Given the description of an element on the screen output the (x, y) to click on. 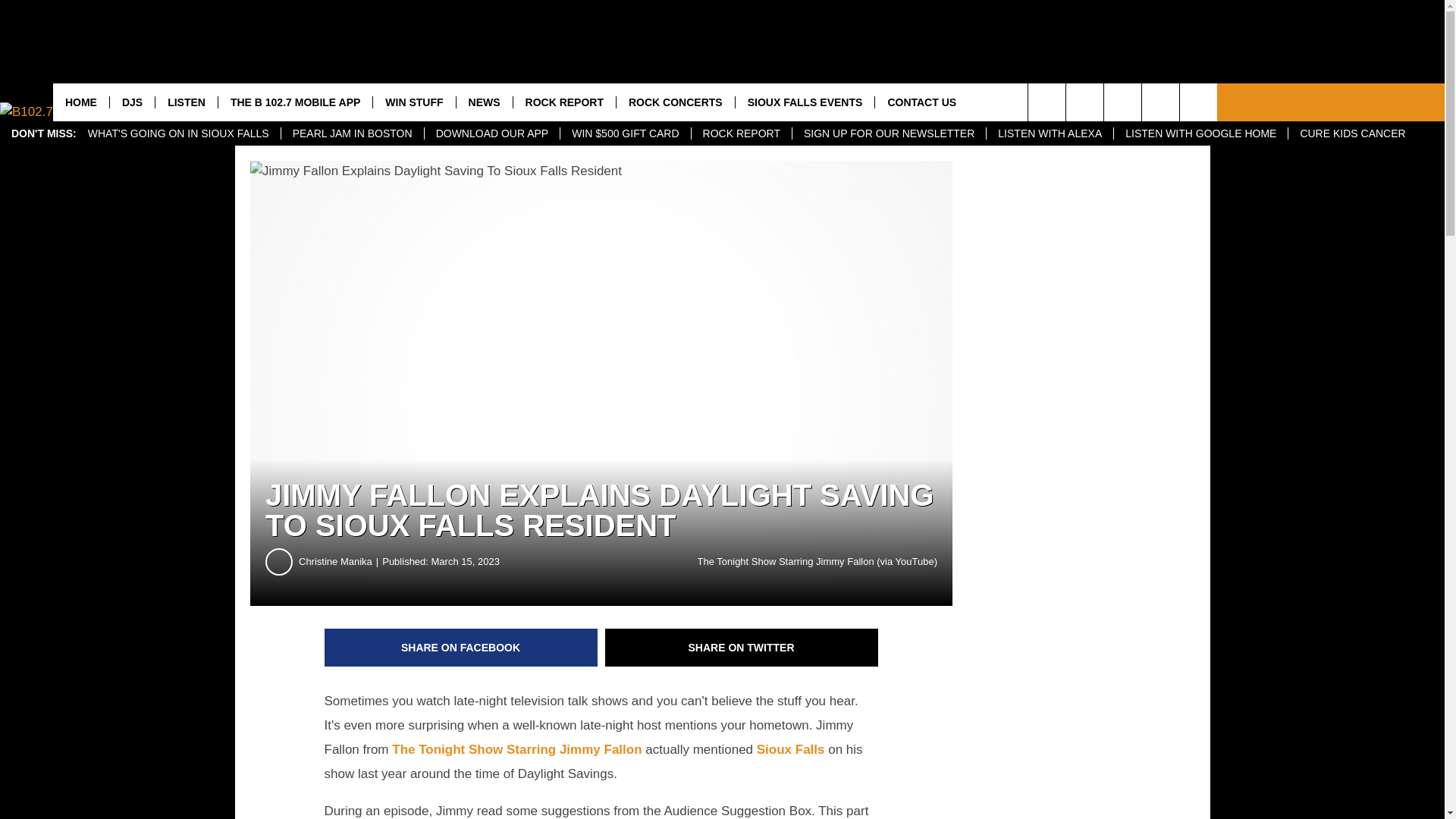
PEARL JAM IN BOSTON (352, 133)
LISTEN (185, 102)
HOME (80, 102)
DOWNLOAD OUR APP (491, 133)
WHAT'S GOING ON IN SIOUX FALLS (179, 133)
SIGN UP FOR OUR NEWSLETTER (888, 133)
LISTEN WITH ALEXA (1049, 133)
Share on Facebook (460, 647)
NEWS (483, 102)
THE B 102.7 MOBILE APP (294, 102)
